Given the description of an element on the screen output the (x, y) to click on. 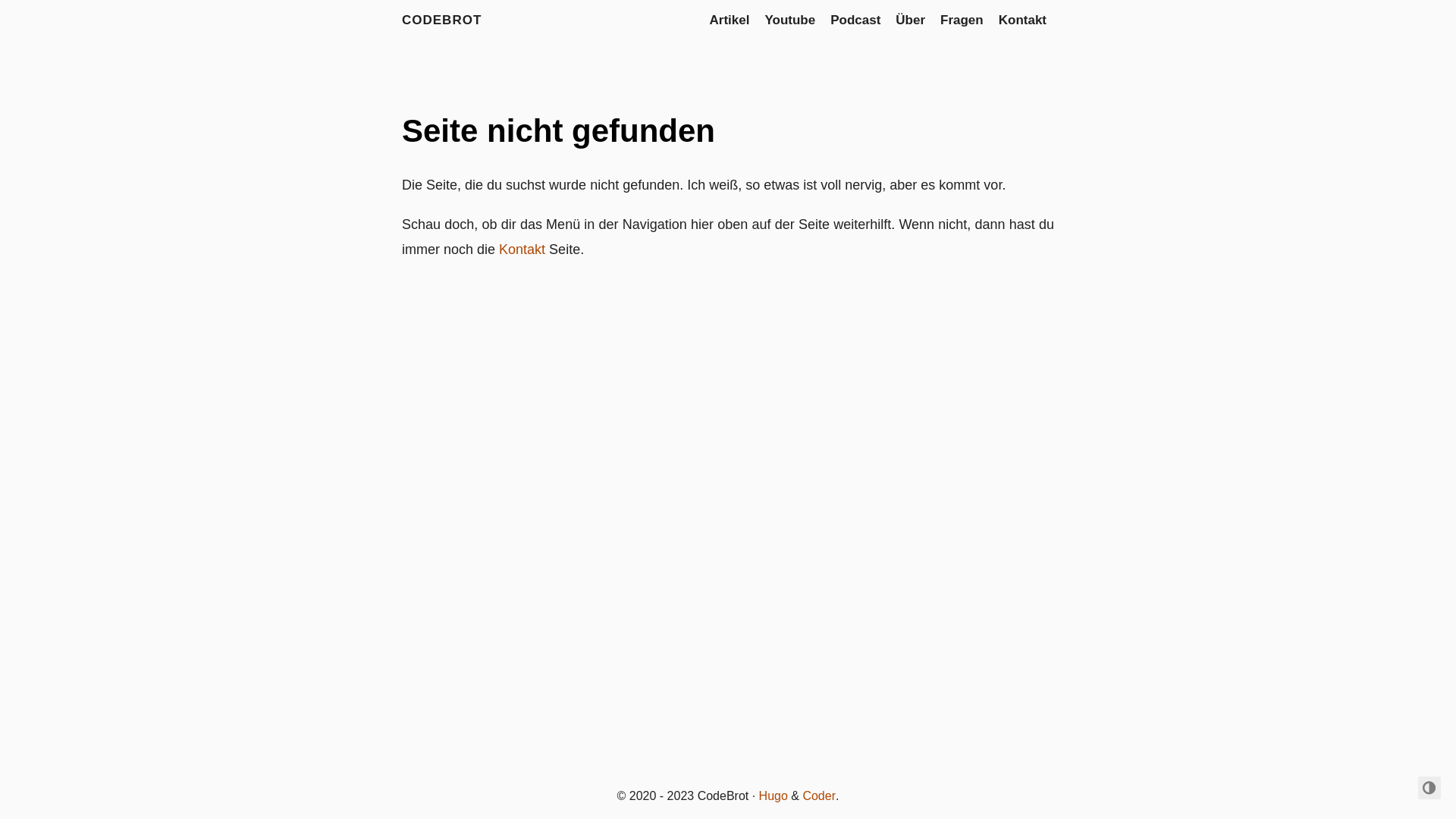
Coder Element type: text (818, 795)
Youtube Element type: text (789, 19)
Kontakt Element type: text (1022, 19)
Artikel Element type: text (729, 19)
Hugo Element type: text (773, 795)
Fragen Element type: text (961, 19)
Podcast Element type: text (855, 19)
CODEBROT Element type: text (441, 19)
Kontakt Element type: text (521, 249)
Seite nicht gefunden Element type: text (558, 130)
